Given the description of an element on the screen output the (x, y) to click on. 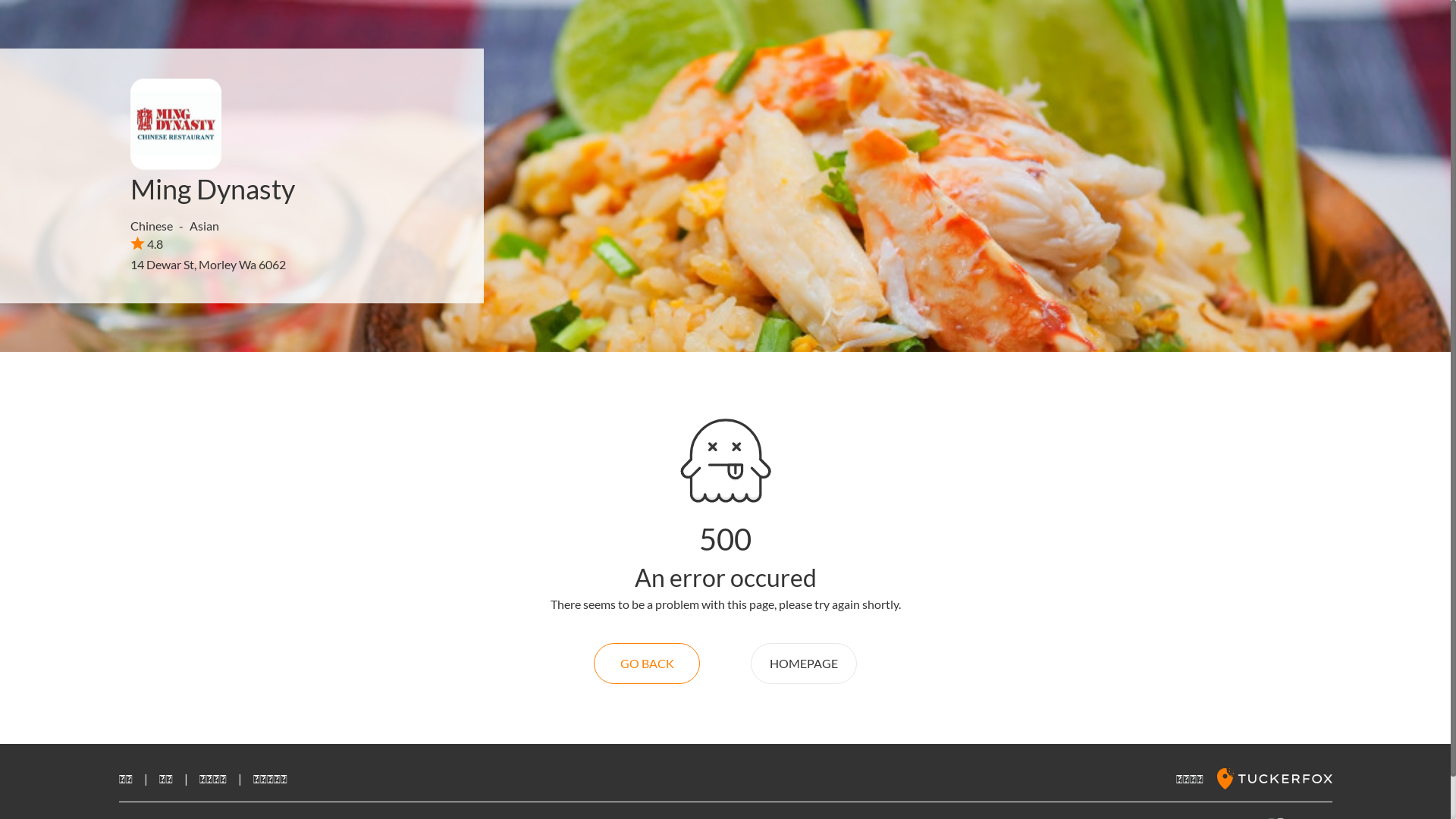
4.8 Element type: text (146, 243)
HOMEPAGE Element type: text (803, 663)
GO BACK Element type: text (646, 663)
Ming Dynasty Element type: text (212, 188)
